Given the description of an element on the screen output the (x, y) to click on. 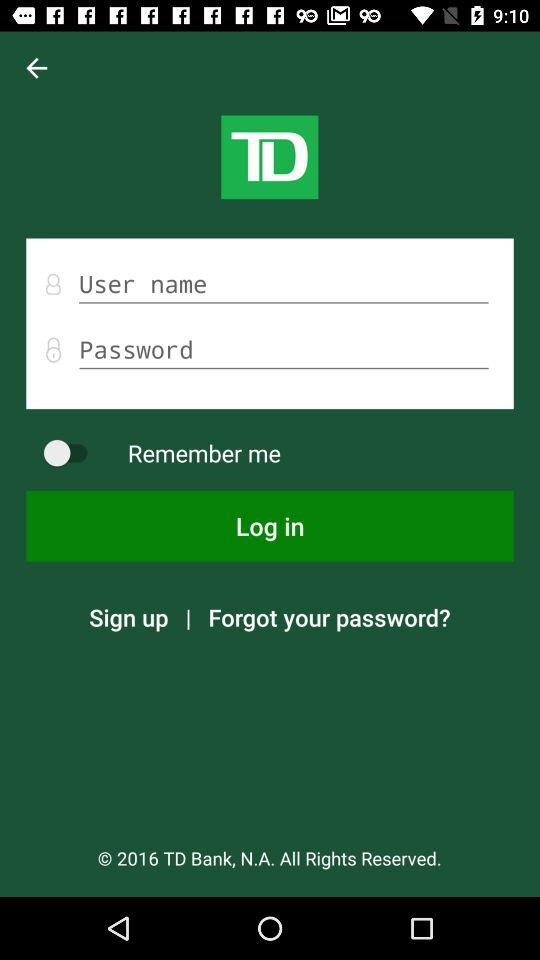
choose item below the log in icon (329, 617)
